Given the description of an element on the screen output the (x, y) to click on. 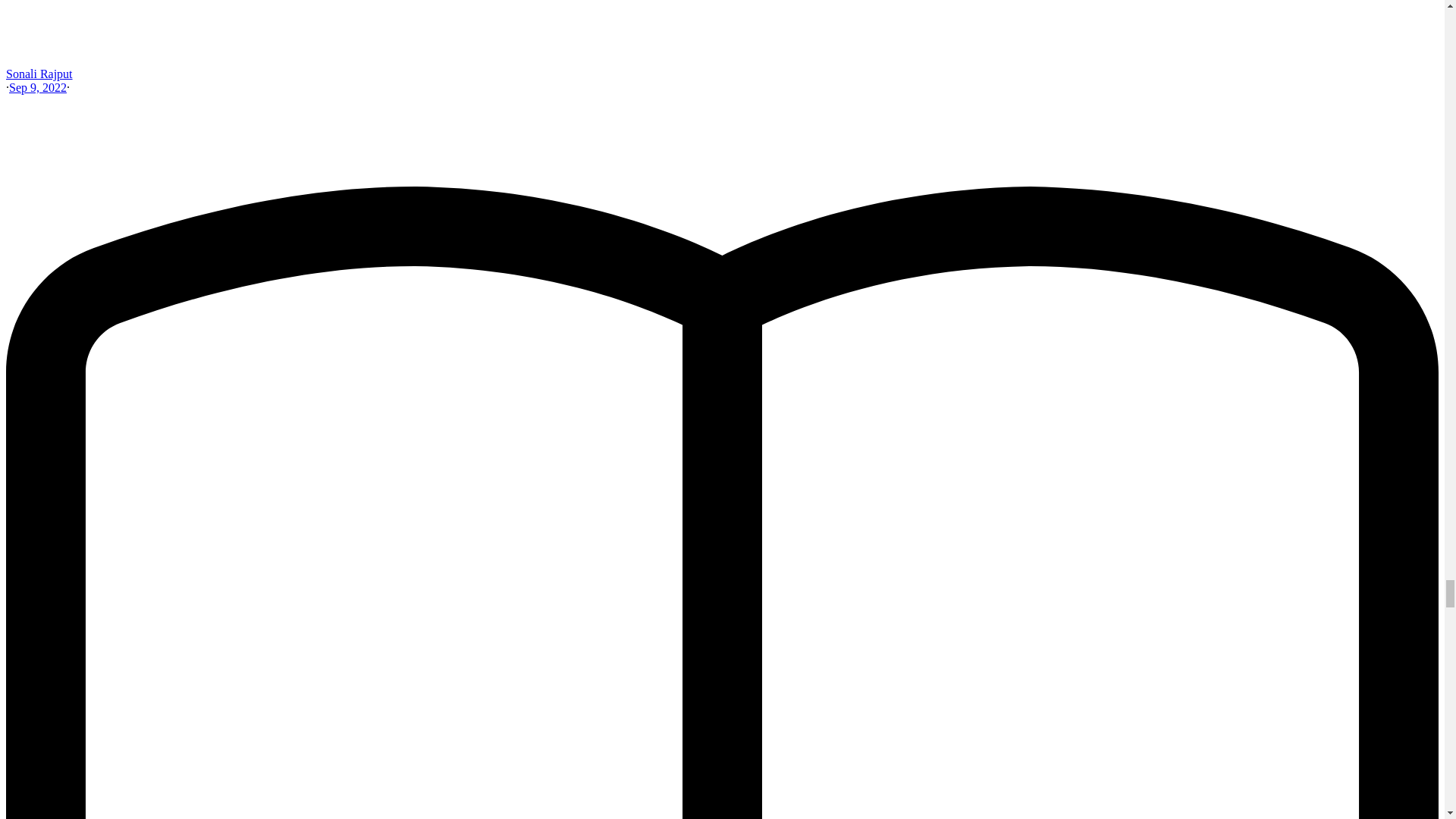
Sonali Rajput (38, 73)
Sep 9, 2022 (37, 87)
